Given the description of an element on the screen output the (x, y) to click on. 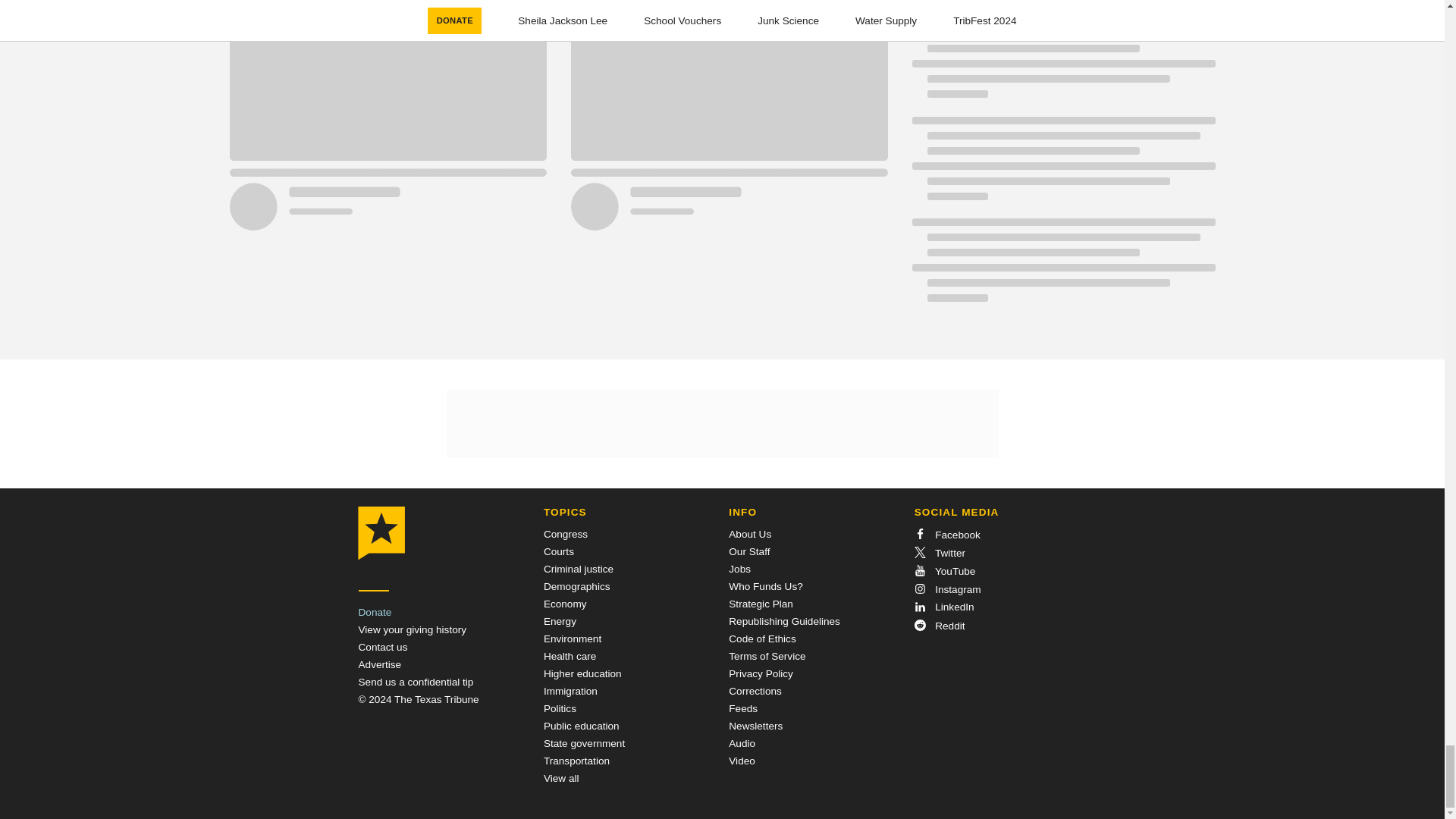
Terms of Service (767, 655)
Loading indicator (1062, 267)
Code of Ethics (761, 638)
Audio (742, 743)
Send a Tip (415, 681)
Who Funds Us? (765, 586)
Loading indicator (1062, 5)
Loading indicator (1062, 63)
Newsletters (756, 726)
Privacy Policy (761, 673)
Advertise (379, 664)
Donate (374, 612)
Contact us (382, 646)
About Us (750, 533)
Video (742, 760)
